Given the description of an element on the screen output the (x, y) to click on. 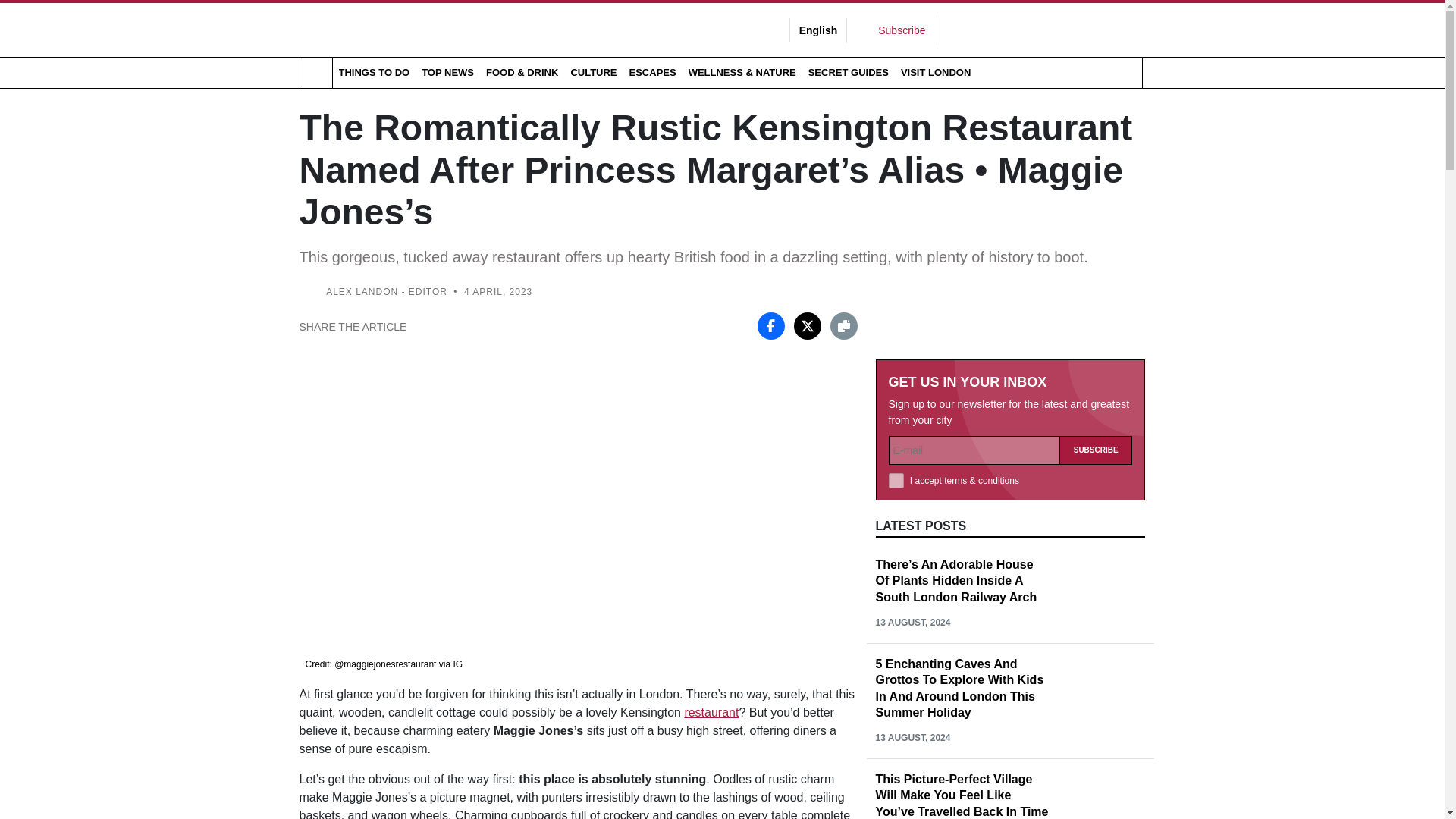
ALEX LANDON (361, 291)
VISIT LONDON (936, 72)
English (818, 29)
TOP NEWS (448, 72)
1 (896, 480)
Subscribe (1095, 450)
restaurant (711, 712)
SECRET GUIDES (848, 72)
CULTURE (592, 72)
THINGS TO DO (373, 72)
